Given the description of an element on the screen output the (x, y) to click on. 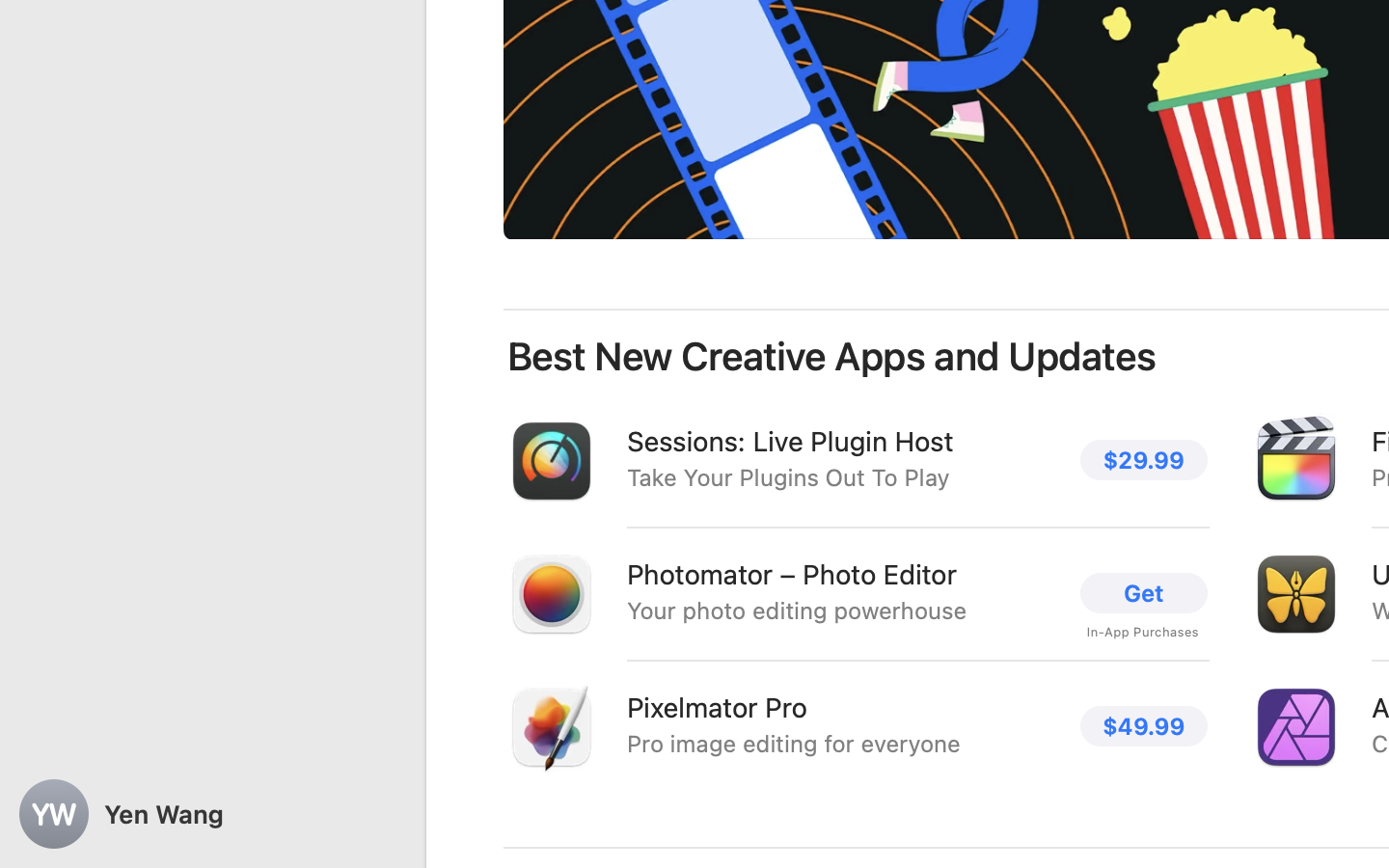
Best New Creative Apps and Updates Element type: AXStaticText (832, 356)
Yen Wang Element type: AXButton (212, 813)
